Given the description of an element on the screen output the (x, y) to click on. 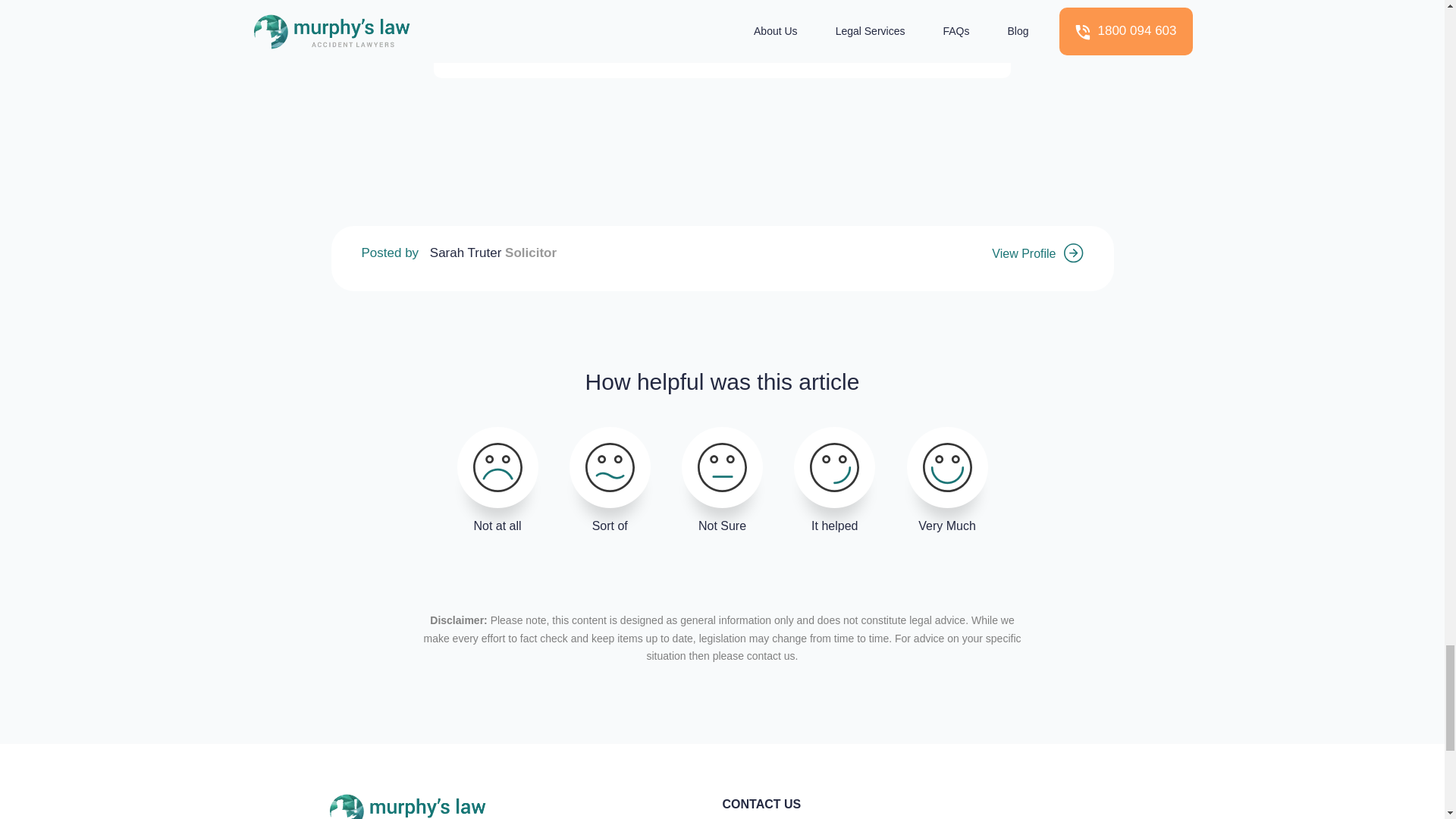
View Profile (1037, 253)
